Given the description of an element on the screen output the (x, y) to click on. 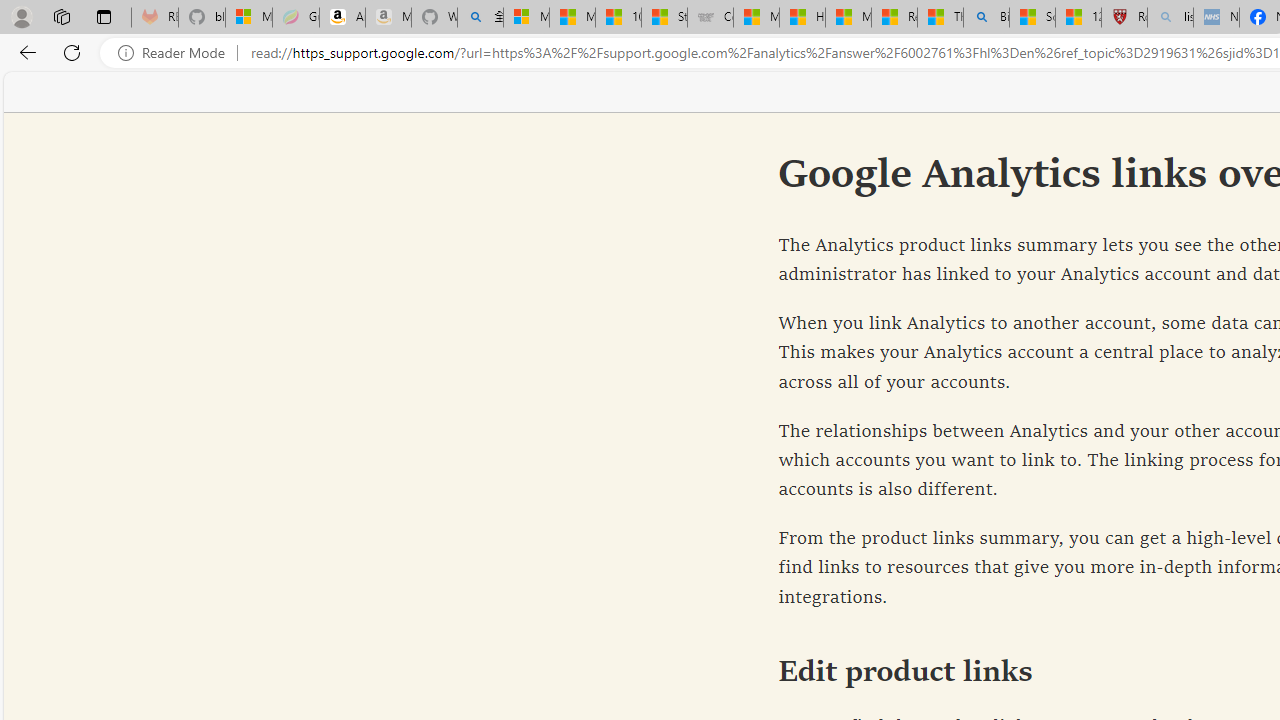
Reader Mode (177, 53)
Robert H. Shmerling, MD - Harvard Health (1124, 17)
Bing (985, 17)
12 Popular Science Lies that Must be Corrected (1078, 17)
Recipes - MSN (893, 17)
